Given the description of an element on the screen output the (x, y) to click on. 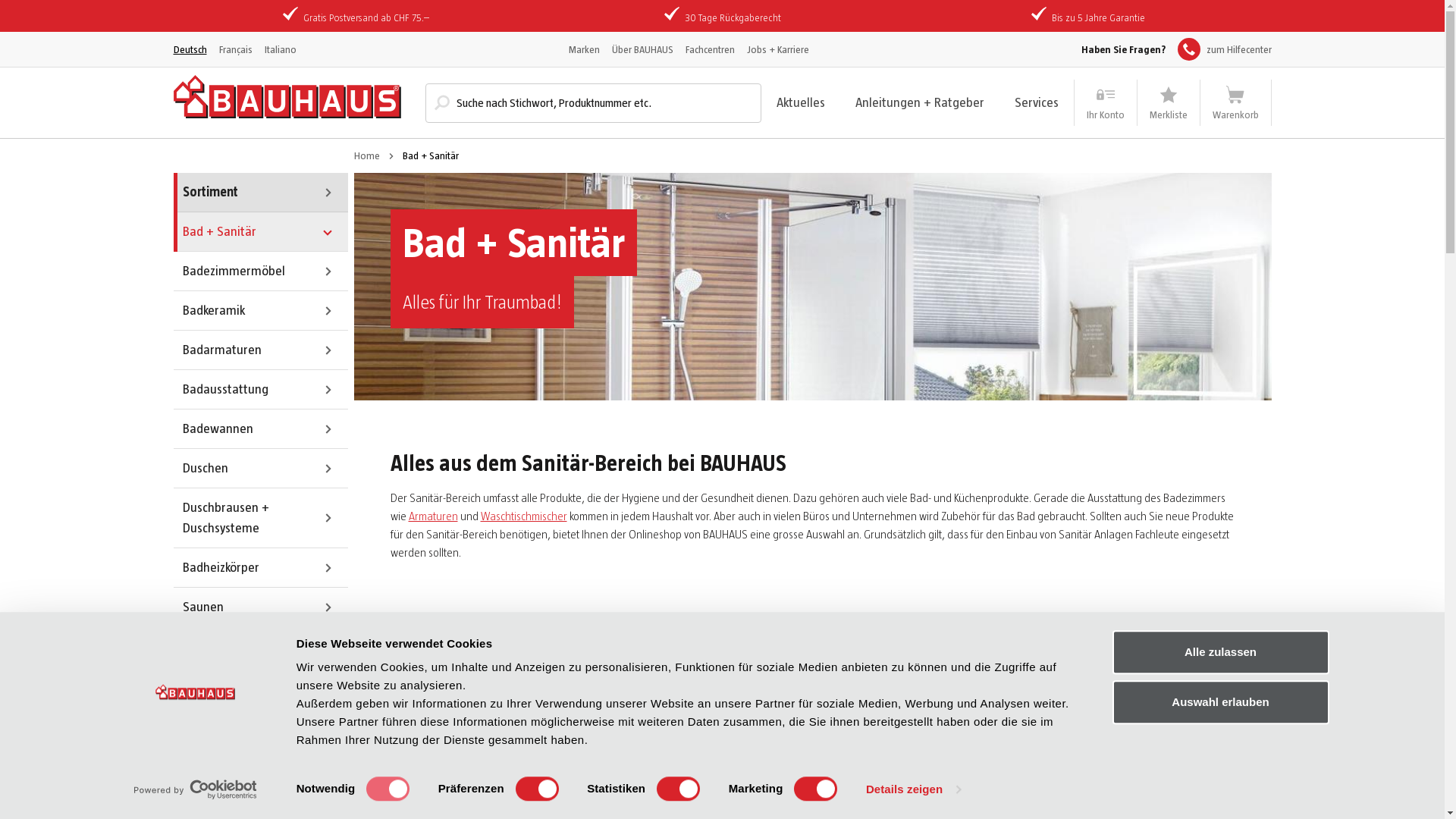
Jobs + Karriere Element type: text (777, 48)
Auswahl erlauben Element type: text (1219, 702)
Armaturen Element type: text (432, 515)
Badausstattung Element type: text (259, 389)
Badkeramik Element type: text (259, 310)
Bis zu 5 Jahre Garantie Element type: text (1098, 17)
Alle zulassen Element type: text (1219, 652)
Details zeigen Element type: text (913, 789)
Merkliste Element type: text (1168, 102)
Home Element type: text (366, 155)
Marken Element type: text (583, 48)
Sortiment Element type: text (259, 192)
Badarmaturen Element type: text (259, 350)
Badewannen Element type: text (259, 428)
Duschen Element type: text (259, 468)
Fachcentren Element type: text (709, 48)
Saunen Element type: text (259, 607)
Italiano Element type: text (279, 48)
zum Hilfecenter Element type: text (1223, 48)
Waschtischmischer Element type: text (523, 515)
Duschbrausen + Duschsysteme Element type: text (259, 518)
Aktuelles Element type: text (800, 101)
Services Element type: text (1036, 101)
Anleitungen + Ratgeber Element type: text (919, 101)
